Given the description of an element on the screen output the (x, y) to click on. 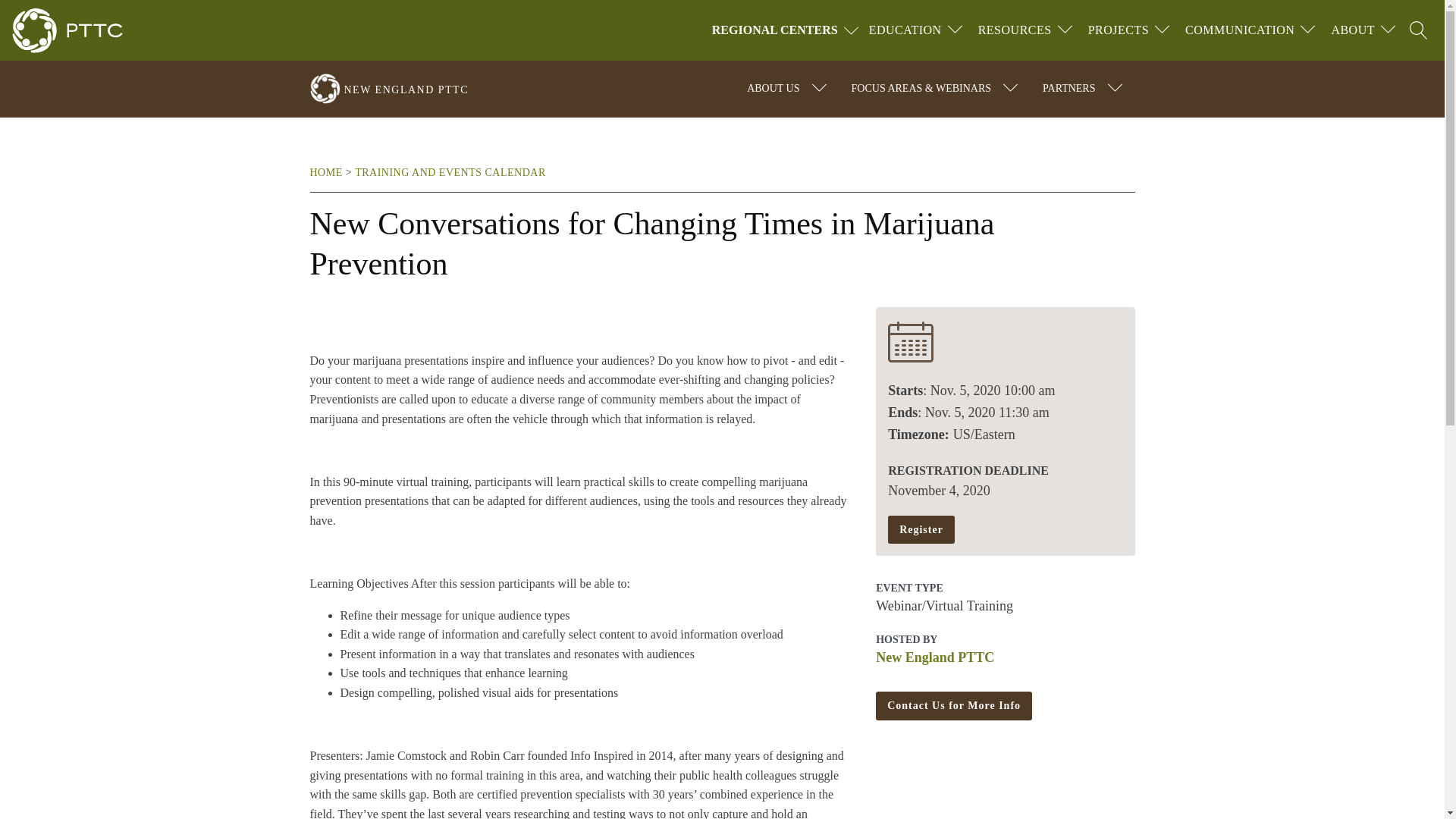
RESOURCES (1015, 30)
EDUCATION (905, 30)
PROJECTS (1117, 30)
REGIONAL CENTERS (787, 30)
